Given the description of an element on the screen output the (x, y) to click on. 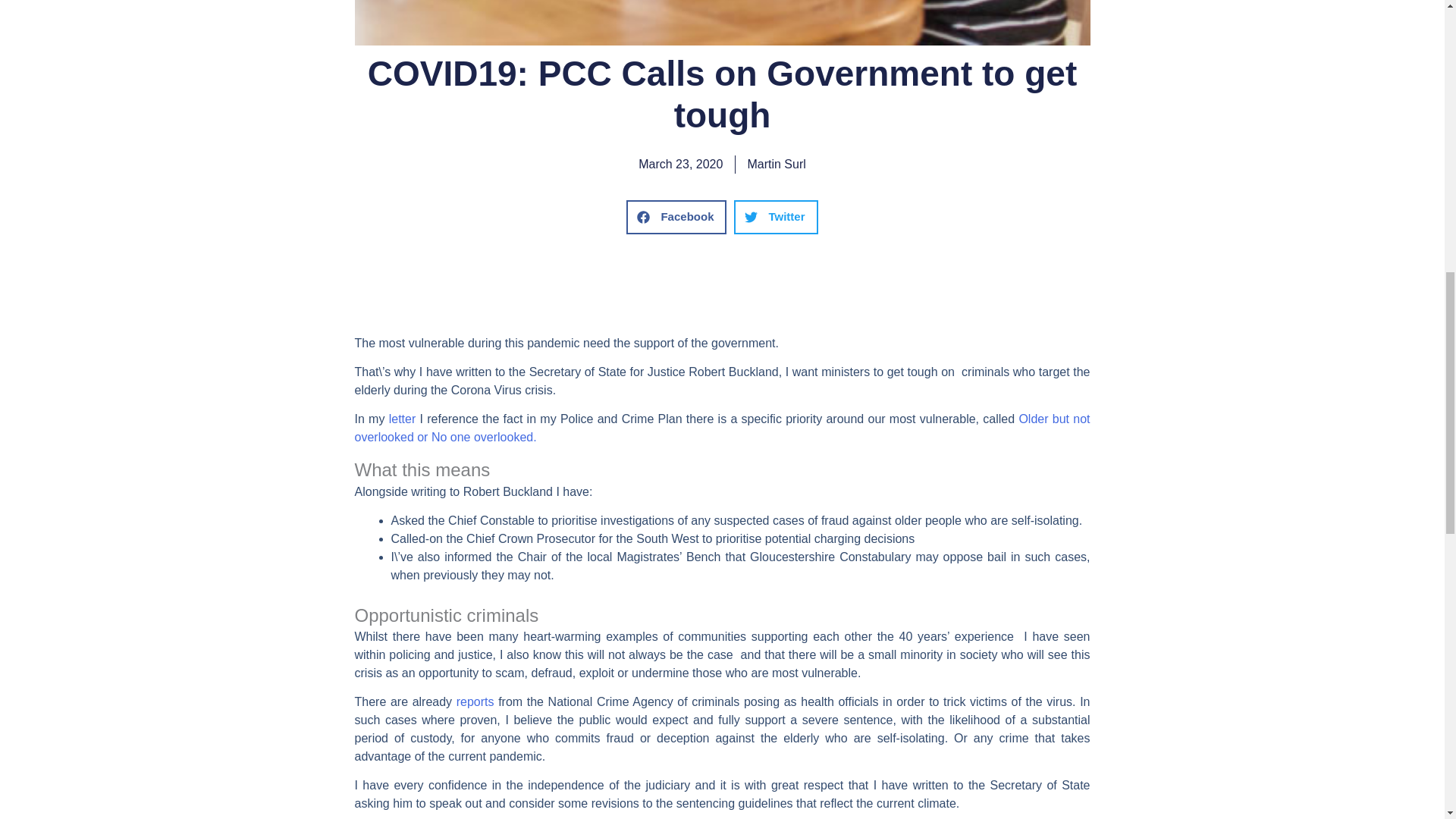
March 23, 2020 (680, 164)
Older but not overlooked or No one overlooked. (722, 427)
reports (476, 701)
letter (402, 418)
Martin Surl (775, 164)
